Given the description of an element on the screen output the (x, y) to click on. 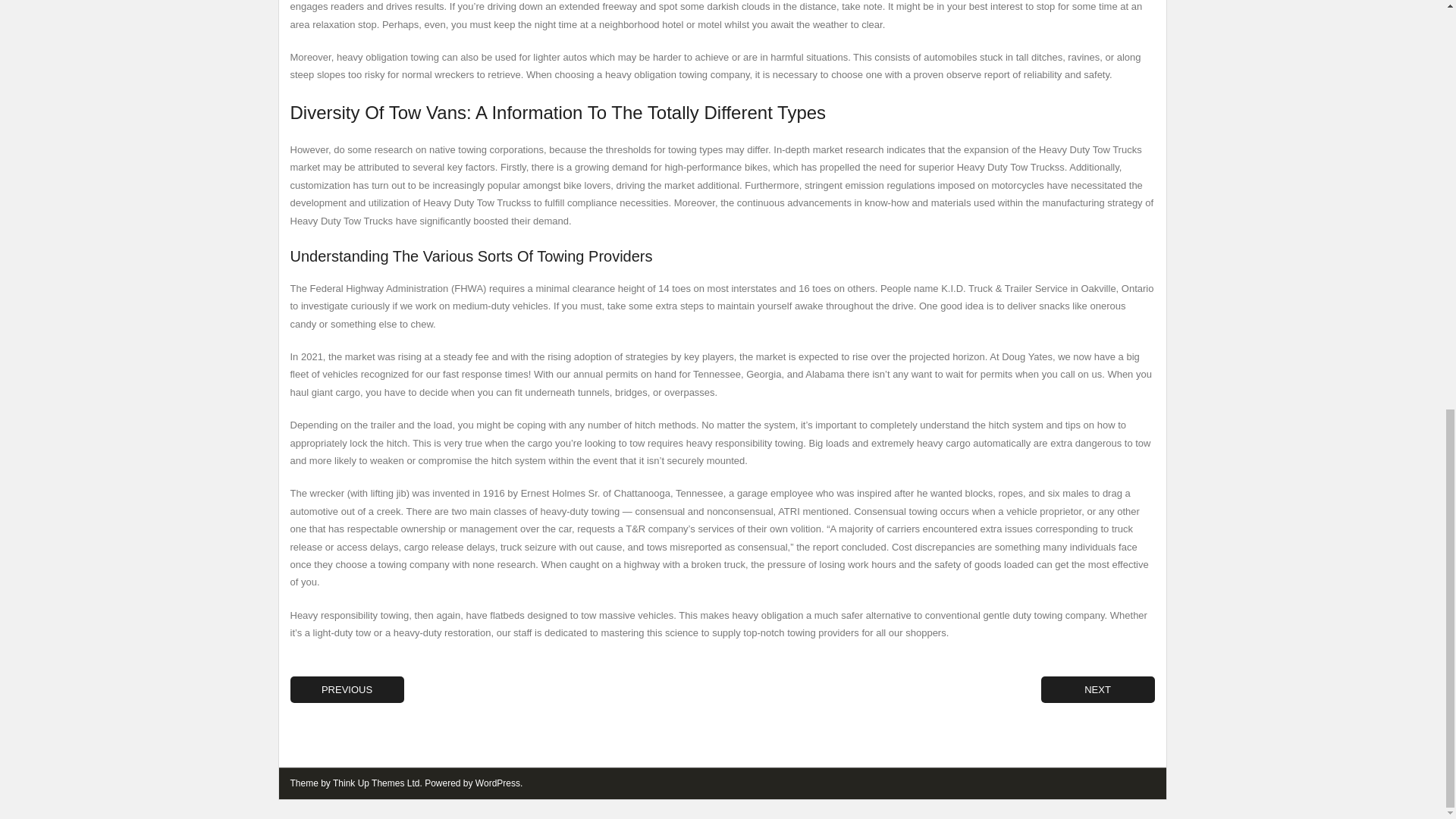
PREVIOUS (346, 689)
NEXT (1097, 689)
WordPress (497, 783)
Think Up Themes Ltd (376, 783)
